Given the description of an element on the screen output the (x, y) to click on. 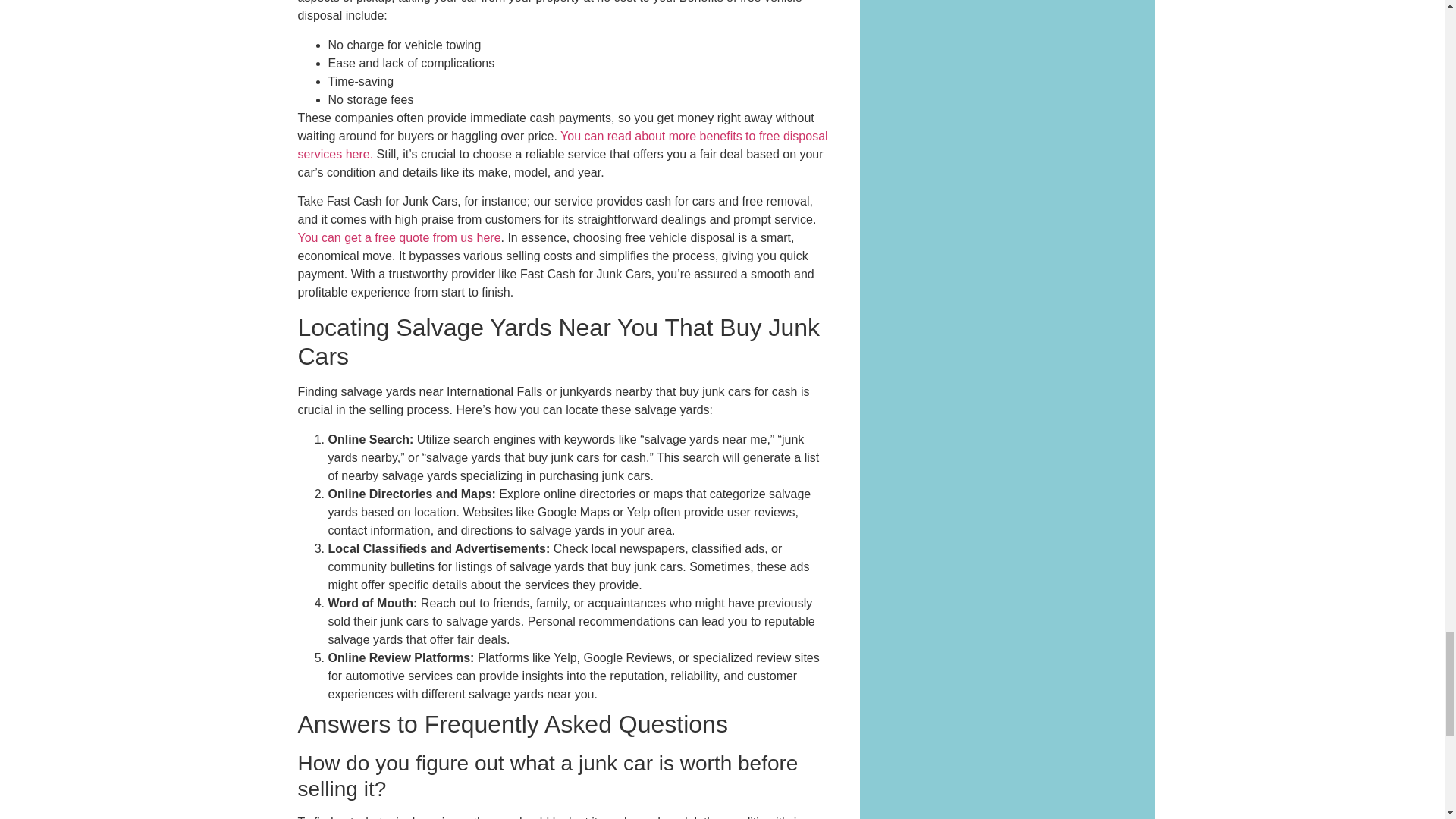
You can get a free quote from us here (398, 237)
